Given the description of an element on the screen output the (x, y) to click on. 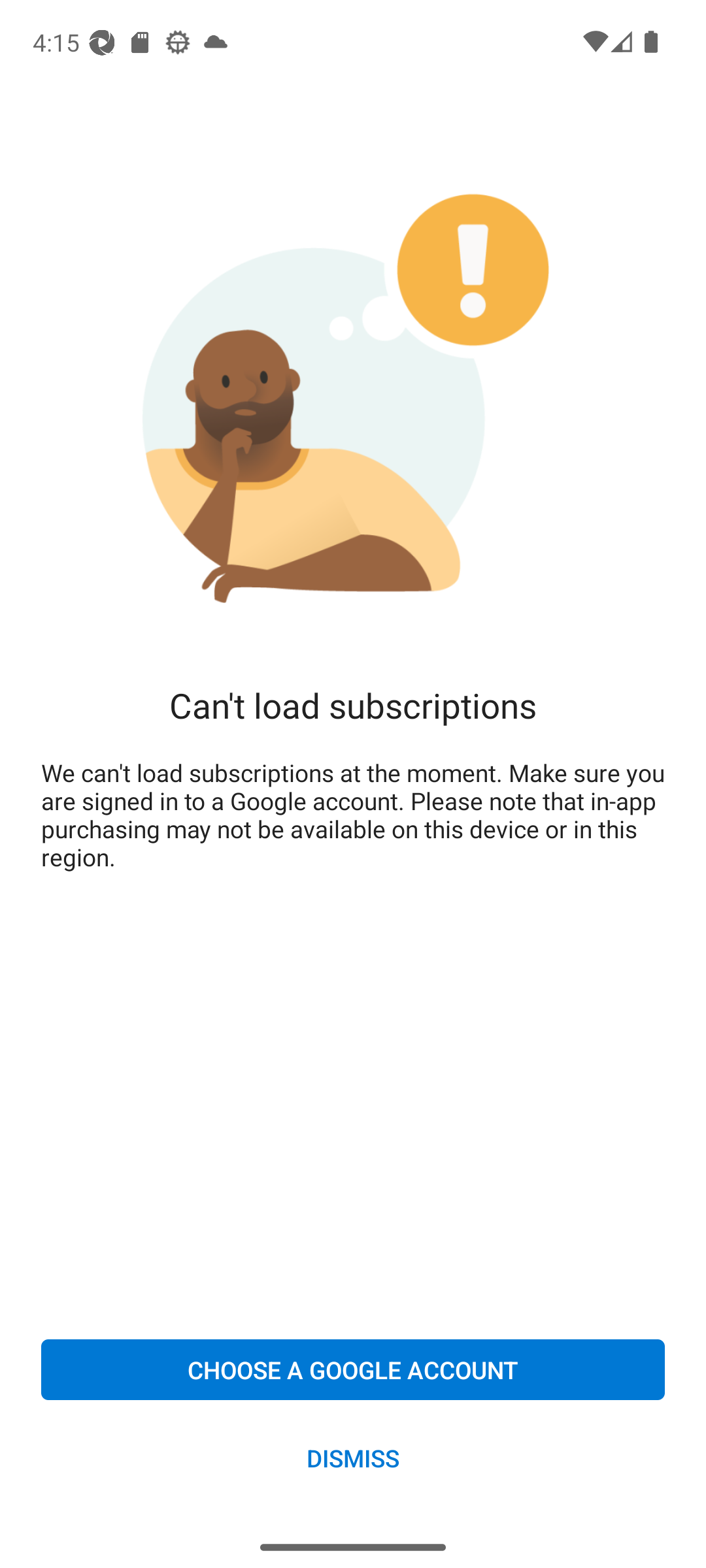
CHOOSE A GOOGLE ACCOUNT (352, 1369)
DISMISS (352, 1457)
